Given the description of an element on the screen output the (x, y) to click on. 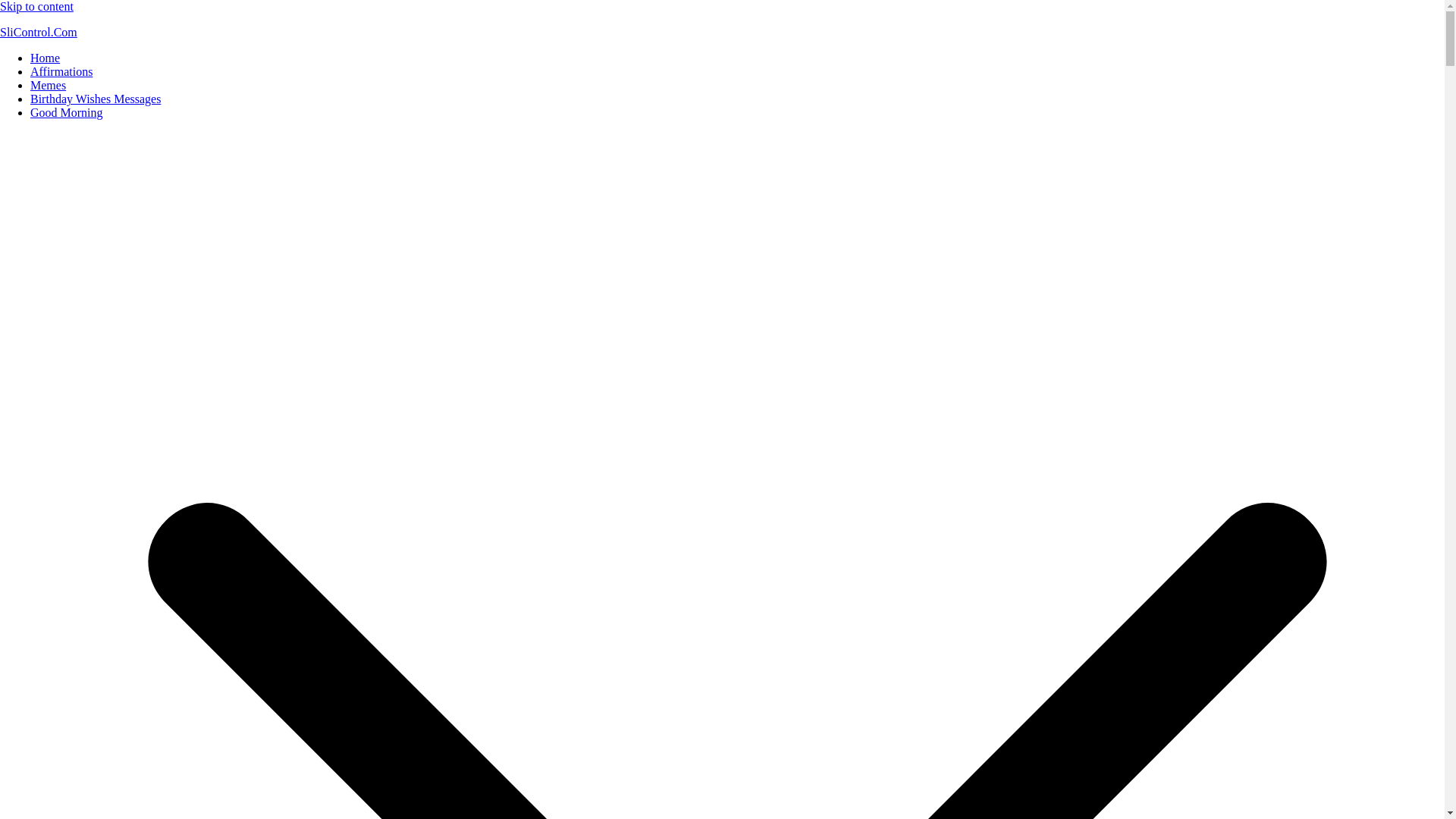
SliControl.Com (38, 31)
Skip to content (37, 6)
Affirmations (61, 71)
Memes (47, 84)
Birthday Wishes Messages (95, 98)
Home (44, 57)
